Given the description of an element on the screen output the (x, y) to click on. 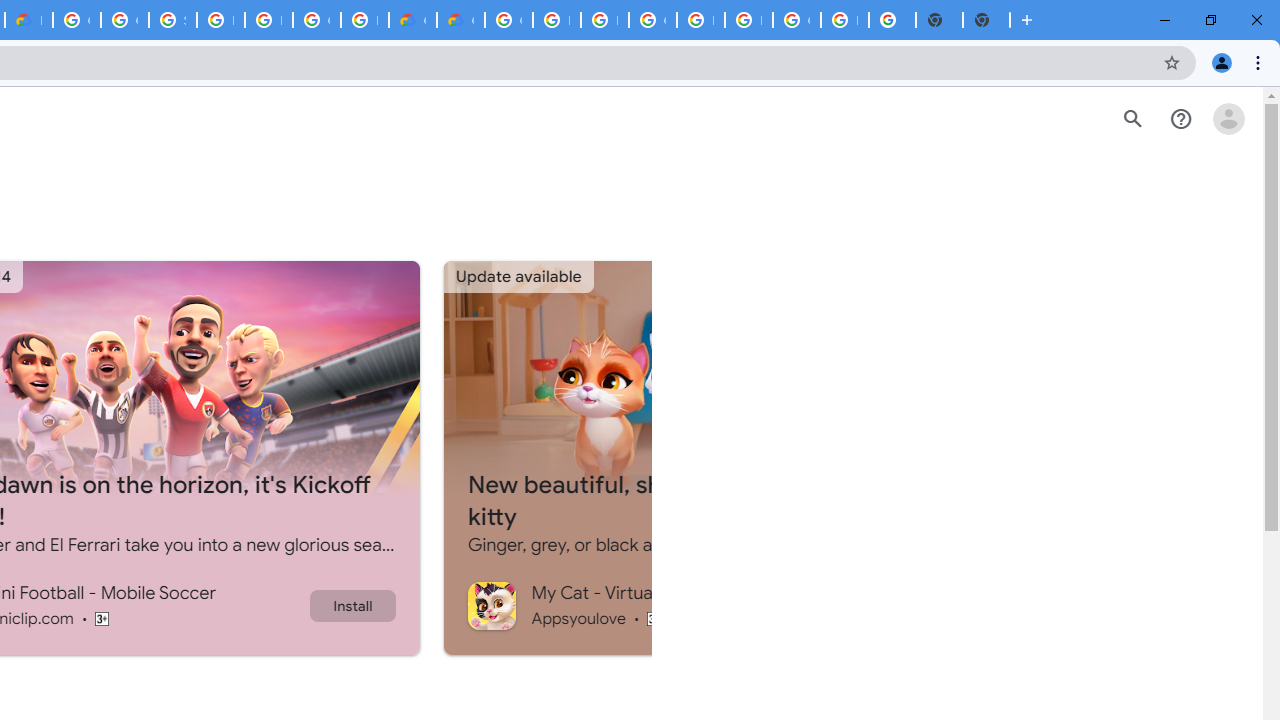
Google Cloud Platform (508, 20)
